Given the description of an element on the screen output the (x, y) to click on. 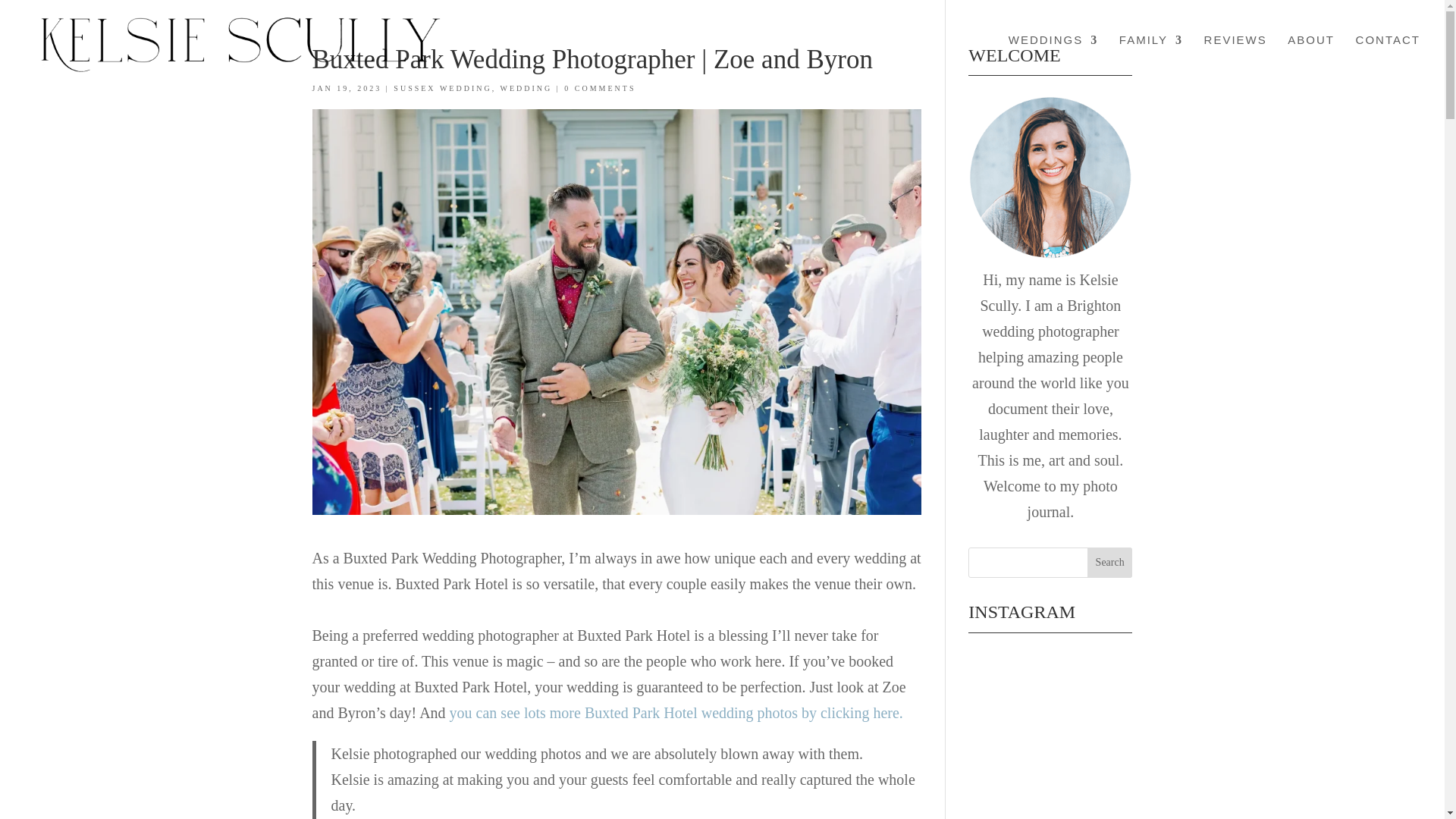
FAMILY (1150, 57)
ABOUT (1311, 57)
CONTACT (1388, 57)
SUSSEX WEDDING (442, 88)
Search (1109, 562)
Reviews of Brighton Wedding Photographer (1235, 57)
0 COMMENTS (599, 88)
REVIEWS (1235, 57)
WEDDING (526, 88)
WEDDINGS (1054, 57)
